Given the description of an element on the screen output the (x, y) to click on. 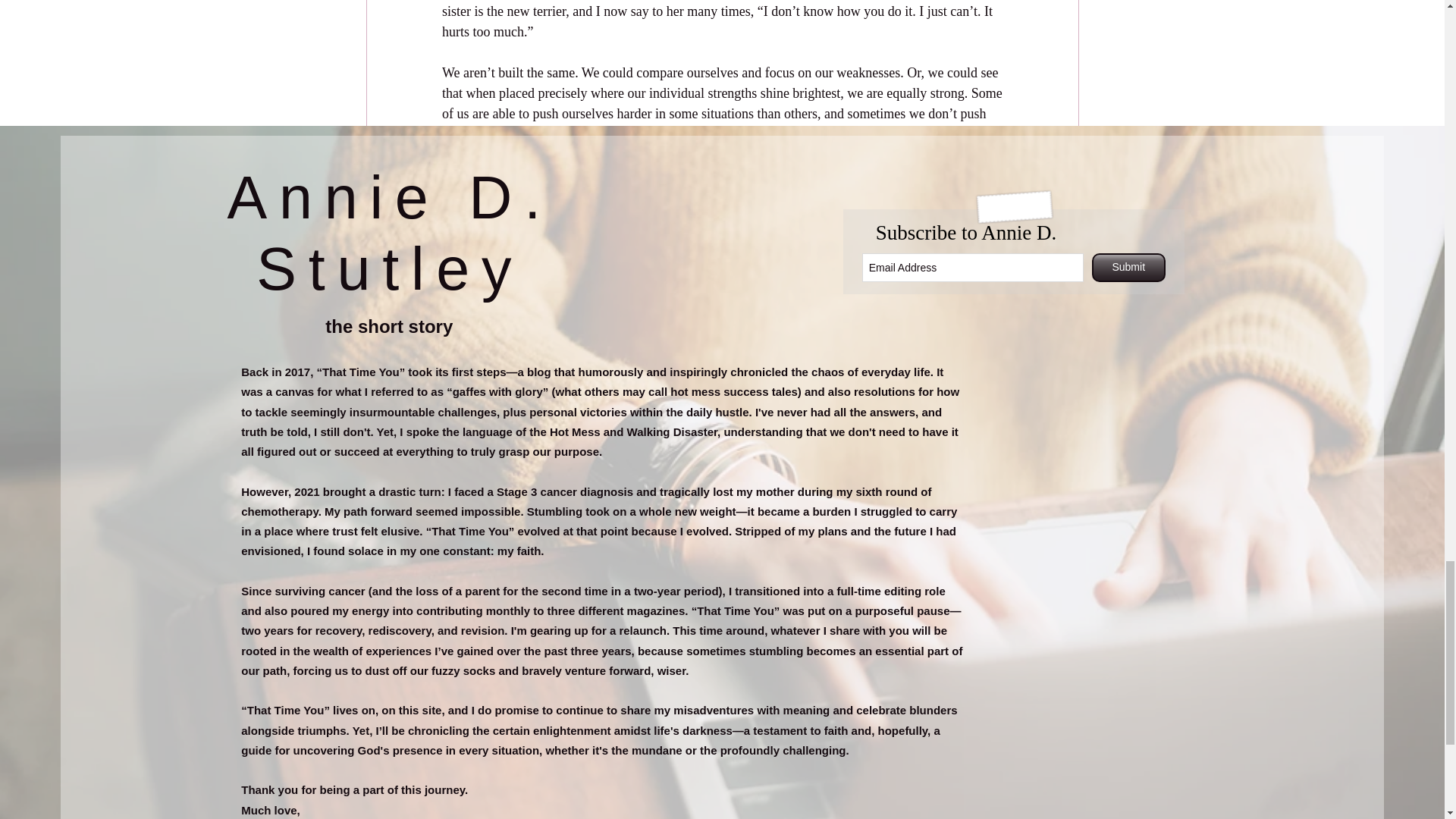
Grief (991, 471)
Post not marked as liked (995, 517)
See All (1061, 599)
